Given the description of an element on the screen output the (x, y) to click on. 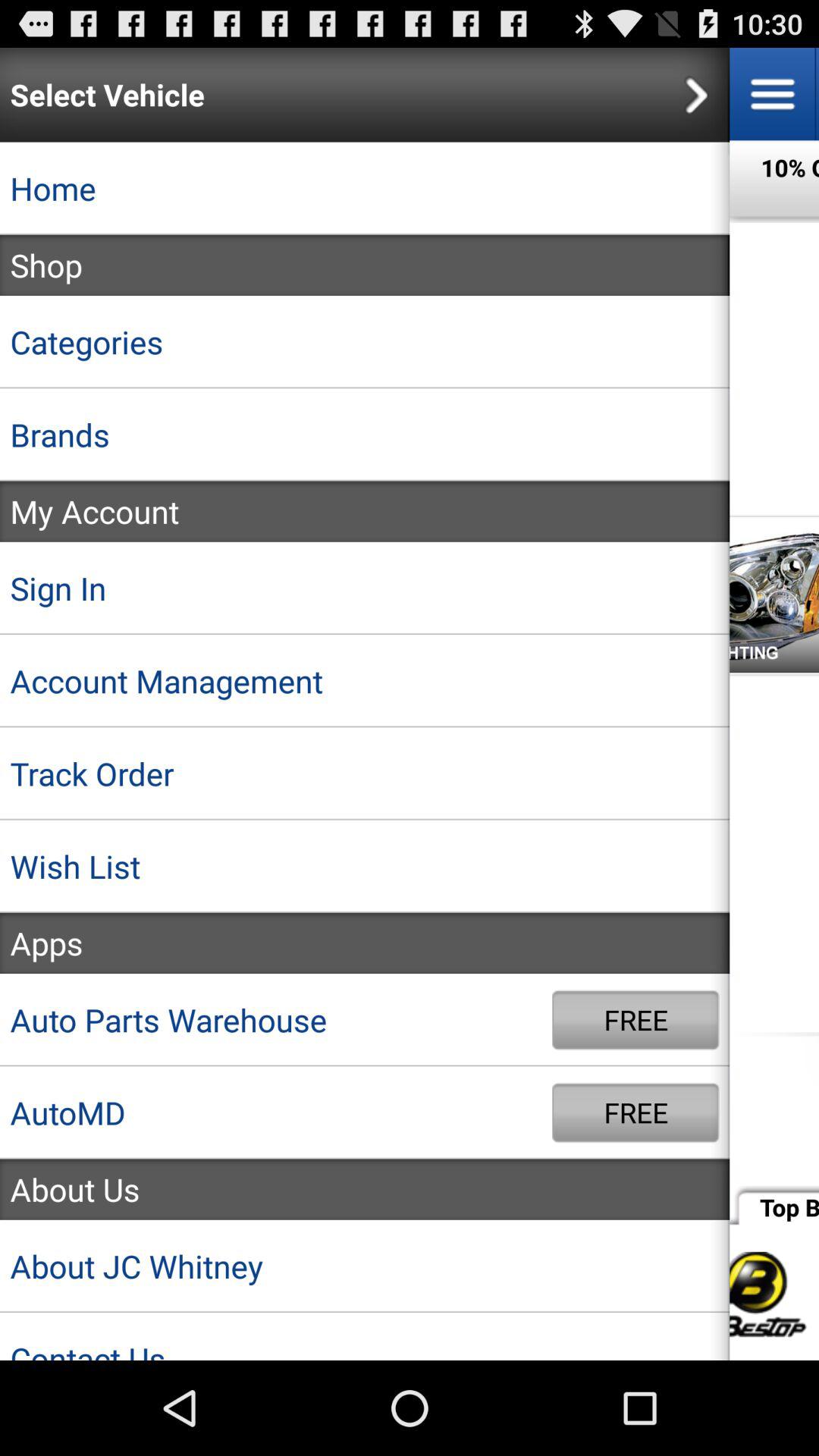
scroll until contact us icon (364, 1336)
